Given the description of an element on the screen output the (x, y) to click on. 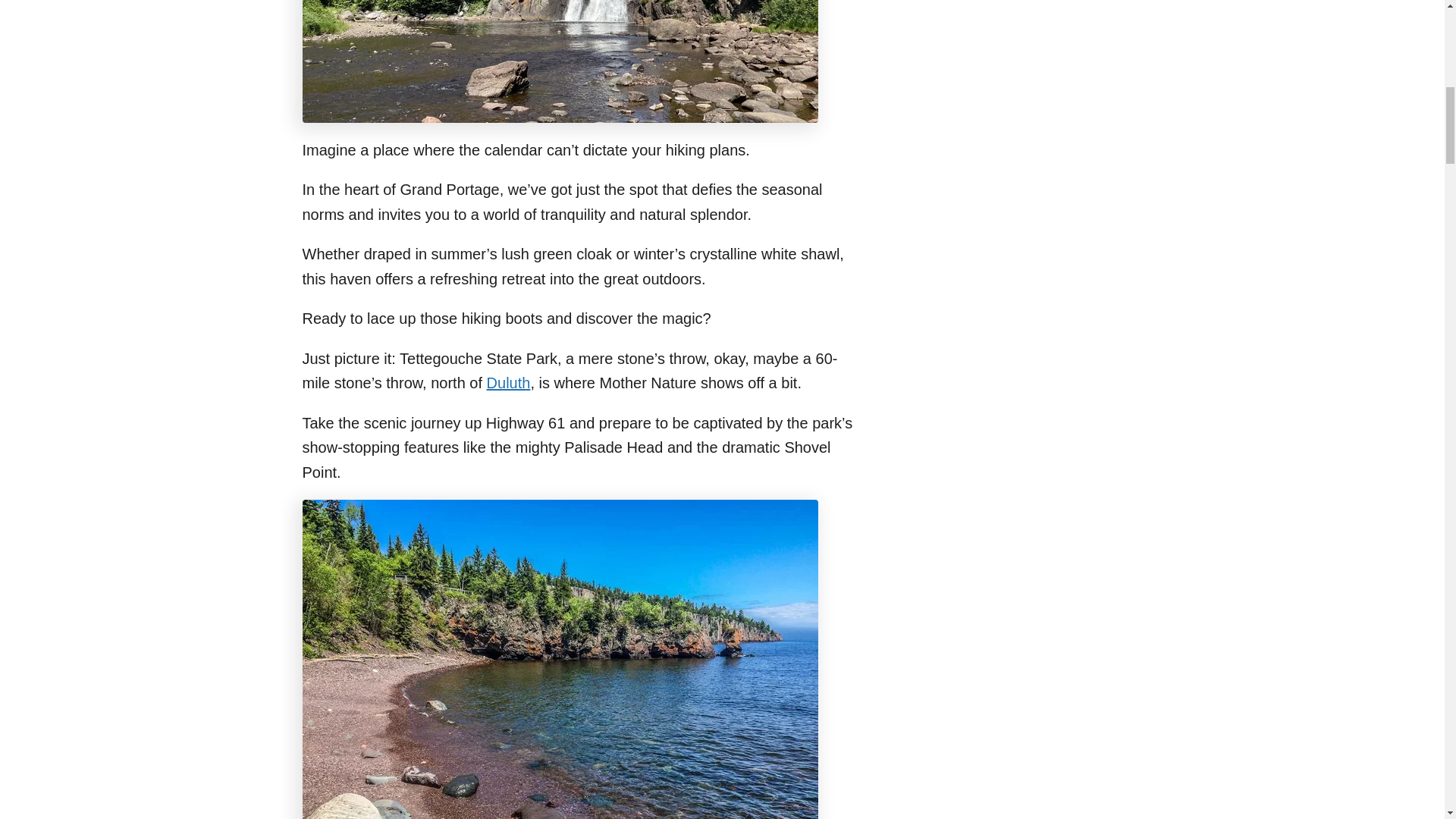
Duluth (508, 382)
